Given the description of an element on the screen output the (x, y) to click on. 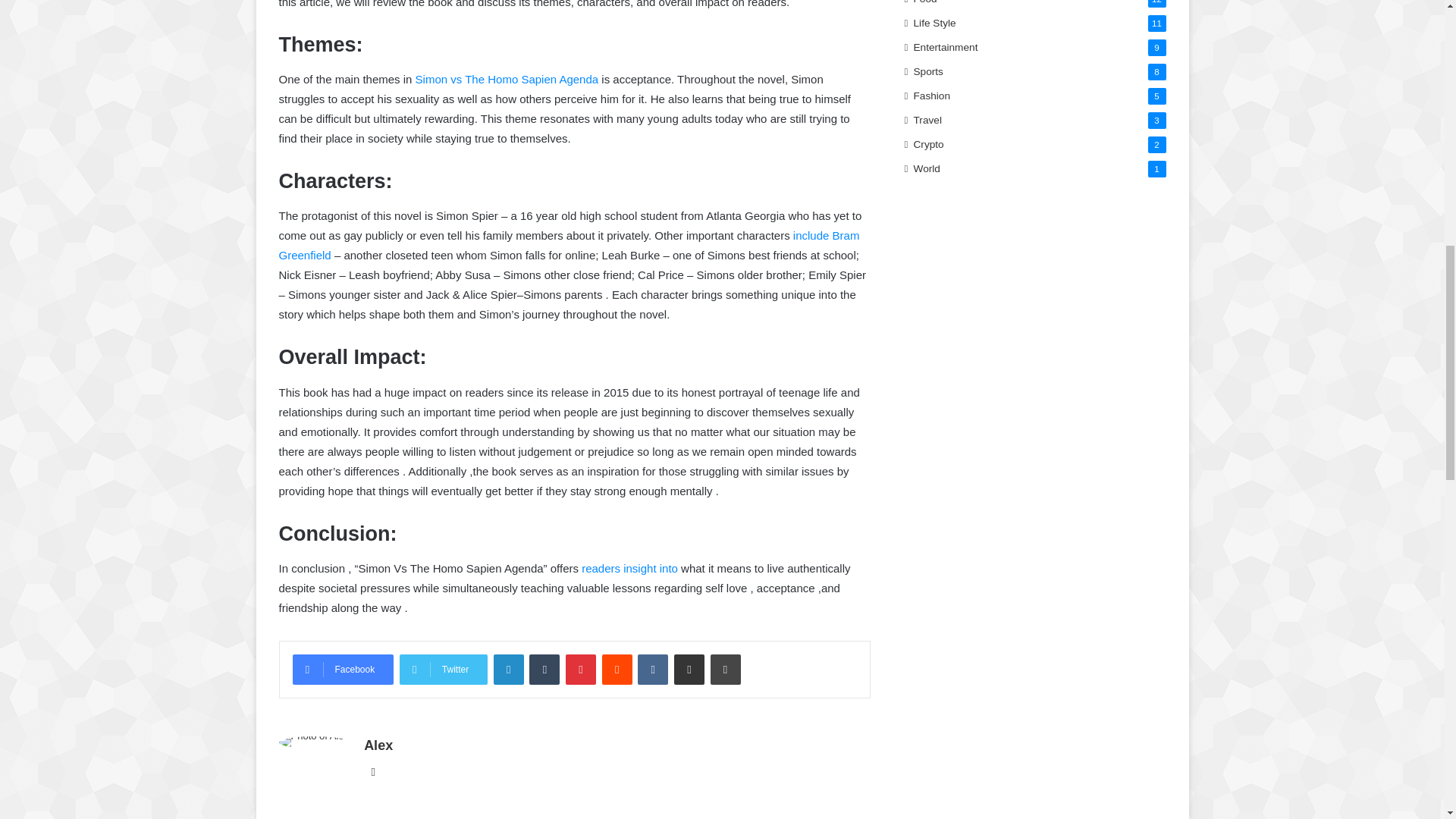
Reddit (616, 669)
Simon vs The Homo Sapien Agenda (506, 78)
Facebook (343, 669)
LinkedIn (508, 669)
Print (725, 669)
Twitter (442, 669)
Pinterest (580, 669)
readers insight into (629, 567)
Tumblr (544, 669)
Reddit (616, 669)
Website (372, 771)
Facebook (343, 669)
include Bram Greenfield (569, 245)
Print (725, 669)
Pinterest (580, 669)
